Given the description of an element on the screen output the (x, y) to click on. 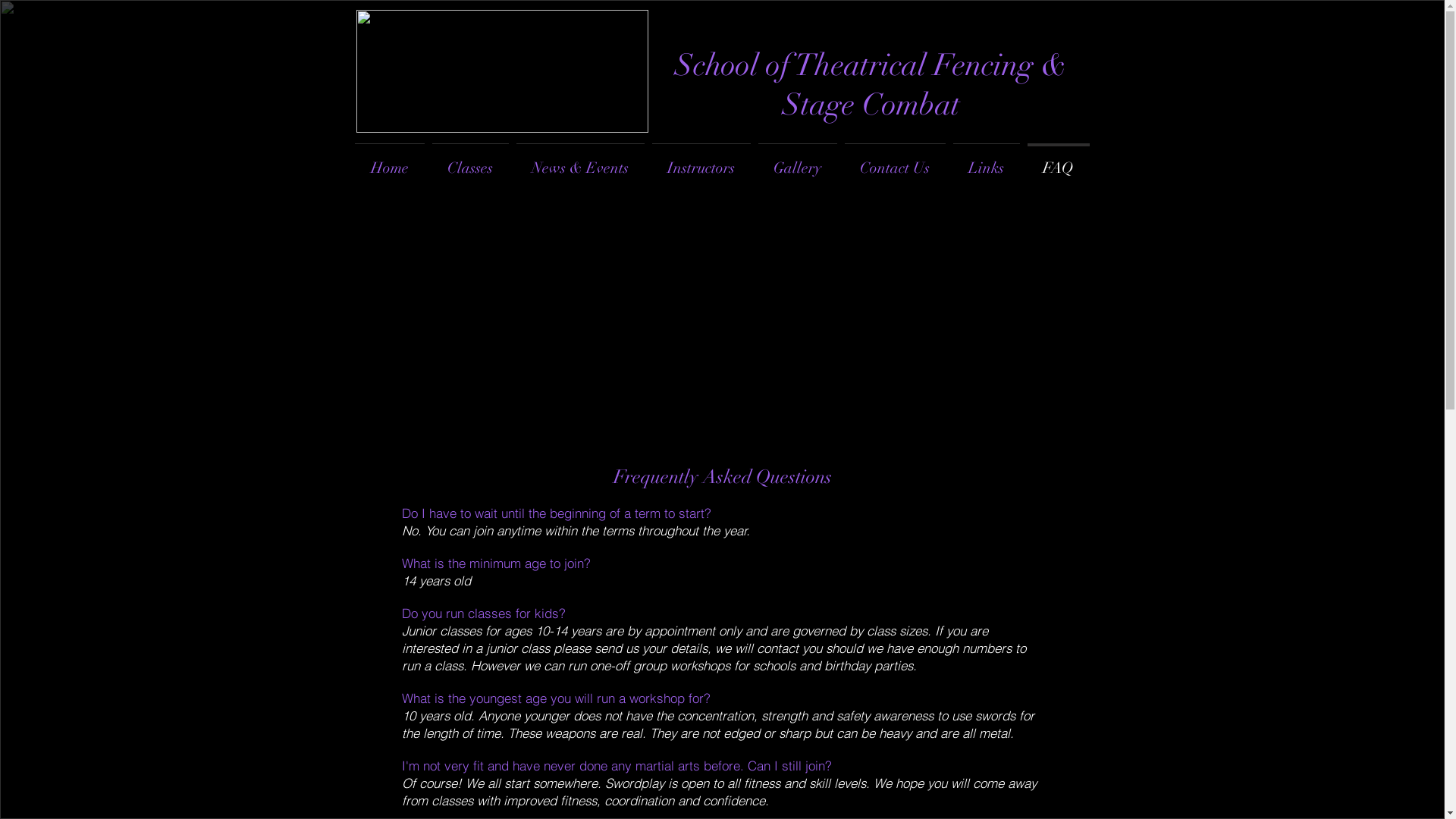
Instructors Element type: text (700, 160)
Links Element type: text (986, 160)
News & Events Element type: text (580, 160)
FAQ Element type: text (1058, 160)
Classes Element type: text (469, 160)
Home Element type: text (388, 160)
Contact Us Element type: text (894, 160)
Gallery Element type: text (796, 160)
